Given the description of an element on the screen output the (x, y) to click on. 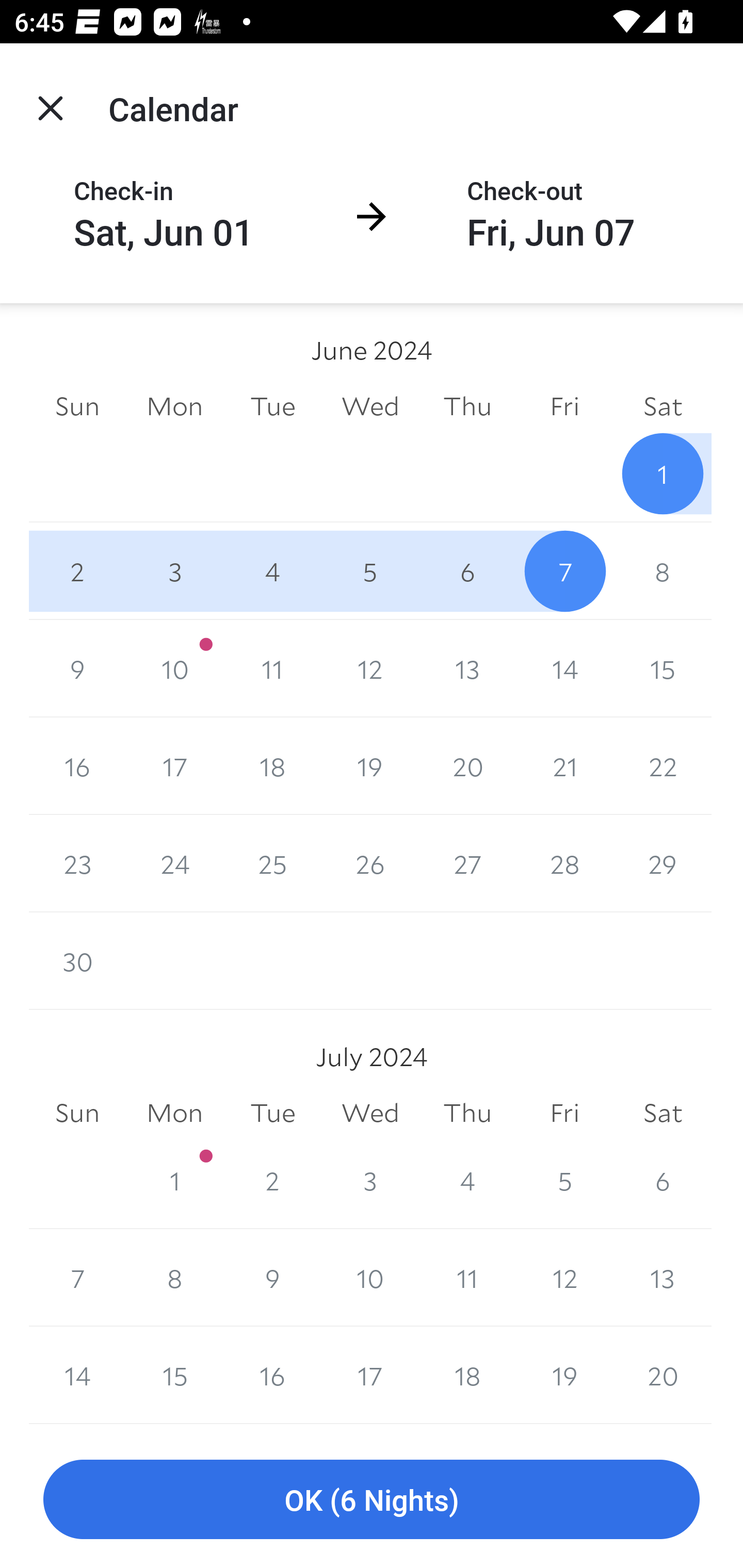
Sun (77, 405)
Mon (174, 405)
Tue (272, 405)
Wed (370, 405)
Thu (467, 405)
Fri (564, 405)
Sat (662, 405)
1 1 June 2024 (662, 473)
2 2 June 2024 (77, 570)
3 3 June 2024 (174, 570)
4 4 June 2024 (272, 570)
5 5 June 2024 (370, 570)
6 6 June 2024 (467, 570)
7 7 June 2024 (564, 570)
8 8 June 2024 (662, 570)
9 9 June 2024 (77, 668)
10 10 June 2024 (174, 668)
11 11 June 2024 (272, 668)
12 12 June 2024 (370, 668)
13 13 June 2024 (467, 668)
14 14 June 2024 (564, 668)
15 15 June 2024 (662, 668)
16 16 June 2024 (77, 766)
17 17 June 2024 (174, 766)
18 18 June 2024 (272, 766)
19 19 June 2024 (370, 766)
20 20 June 2024 (467, 766)
21 21 June 2024 (564, 766)
22 22 June 2024 (662, 766)
23 23 June 2024 (77, 863)
24 24 June 2024 (174, 863)
25 25 June 2024 (272, 863)
26 26 June 2024 (370, 863)
27 27 June 2024 (467, 863)
28 28 June 2024 (564, 863)
29 29 June 2024 (662, 863)
30 30 June 2024 (77, 960)
Sun (77, 1113)
Mon (174, 1113)
Tue (272, 1113)
Wed (370, 1113)
Thu (467, 1113)
Fri (564, 1113)
Sat (662, 1113)
1 1 July 2024 (174, 1180)
2 2 July 2024 (272, 1180)
3 3 July 2024 (370, 1180)
4 4 July 2024 (467, 1180)
5 5 July 2024 (564, 1180)
